Given the description of an element on the screen output the (x, y) to click on. 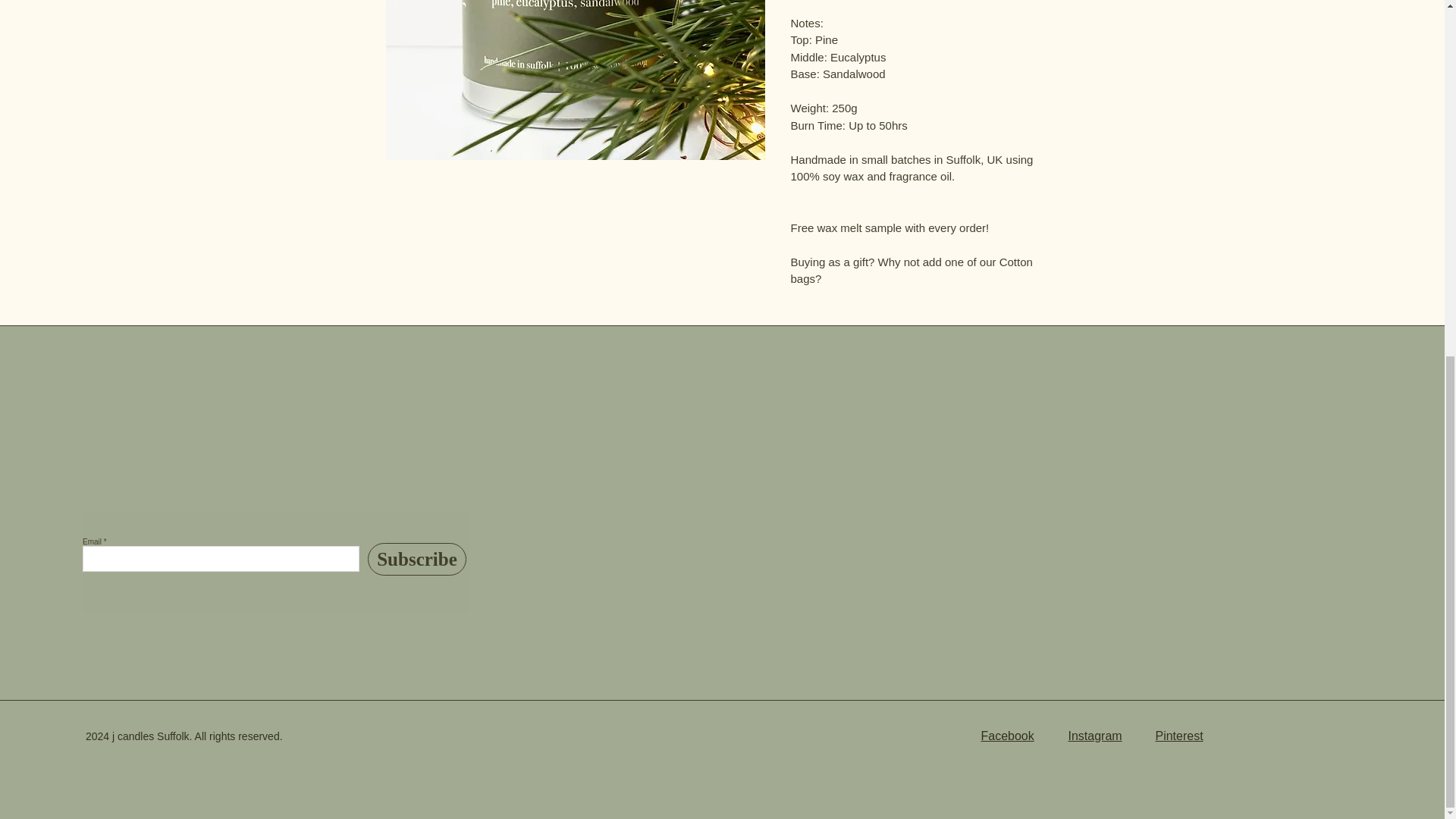
Pinterest (1178, 735)
Subscribe (416, 558)
Instagram (1094, 735)
Facebook (1006, 735)
